Given the description of an element on the screen output the (x, y) to click on. 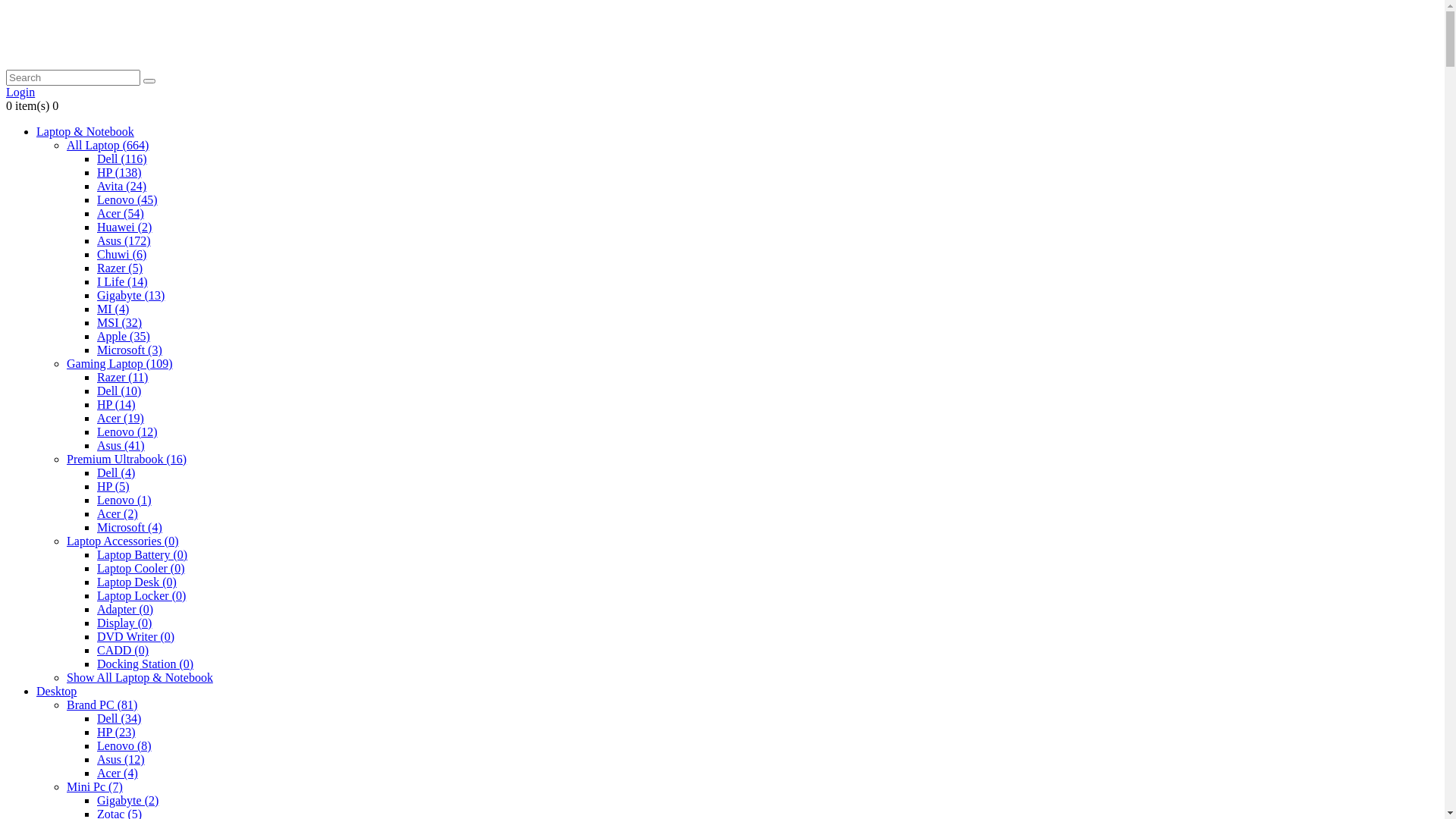
Microsoft (4) Element type: text (129, 526)
Laptop Cooler (0) Element type: text (141, 567)
Laptop Desk (0) Element type: text (136, 581)
Docking Station (0) Element type: text (145, 663)
All Laptop (664) Element type: text (107, 144)
Gigabyte (13) Element type: text (130, 294)
Asus (172) Element type: text (123, 240)
Show All Laptop & Notebook Element type: text (139, 677)
Mini Pc (7) Element type: text (94, 786)
Adapter (0) Element type: text (125, 608)
Dell (34) Element type: text (119, 718)
Avita (24) Element type: text (121, 185)
Lenovo (8) Element type: text (124, 745)
HP (138) Element type: text (119, 172)
Brand PC (81) Element type: text (101, 704)
Asus (12) Element type: text (120, 759)
Laptop Battery (0) Element type: text (142, 554)
Chuwi (6) Element type: text (121, 253)
Gigabyte (2) Element type: text (127, 799)
DVD Writer (0) Element type: text (135, 636)
Laptop Locker (0) Element type: text (141, 595)
Apple (35) Element type: text (123, 335)
HP (14) Element type: text (116, 404)
HP (23) Element type: text (116, 731)
Display (0) Element type: text (124, 622)
Dell (10) Element type: text (119, 390)
Acer (2) Element type: text (117, 513)
CADD (0) Element type: text (122, 649)
Razer (5) Element type: text (119, 267)
Premium Ultrabook (16) Element type: text (126, 458)
Login Element type: text (20, 91)
Microsoft (3) Element type: text (129, 349)
Dell (4) Element type: text (115, 472)
Lenovo (45) Element type: text (127, 199)
Razer (11) Element type: text (122, 376)
Acer (4) Element type: text (117, 772)
MI (4) Element type: text (112, 308)
MSI (32) Element type: text (119, 322)
Laptop & Notebook Element type: text (85, 131)
Dell (116) Element type: text (122, 158)
Desktop Element type: text (56, 690)
I Life (14) Element type: text (122, 281)
Huawei (2) Element type: text (124, 226)
Lenovo (12) Element type: text (127, 431)
Acer (19) Element type: text (120, 417)
HP (5) Element type: text (113, 486)
Lenovo (1) Element type: text (124, 499)
August Technologies Ltd. Element type: hover (100, 36)
Asus (41) Element type: text (120, 445)
Acer (54) Element type: text (120, 213)
Laptop Accessories (0) Element type: text (122, 540)
Gaming Laptop (109) Element type: text (119, 363)
